Given the description of an element on the screen output the (x, y) to click on. 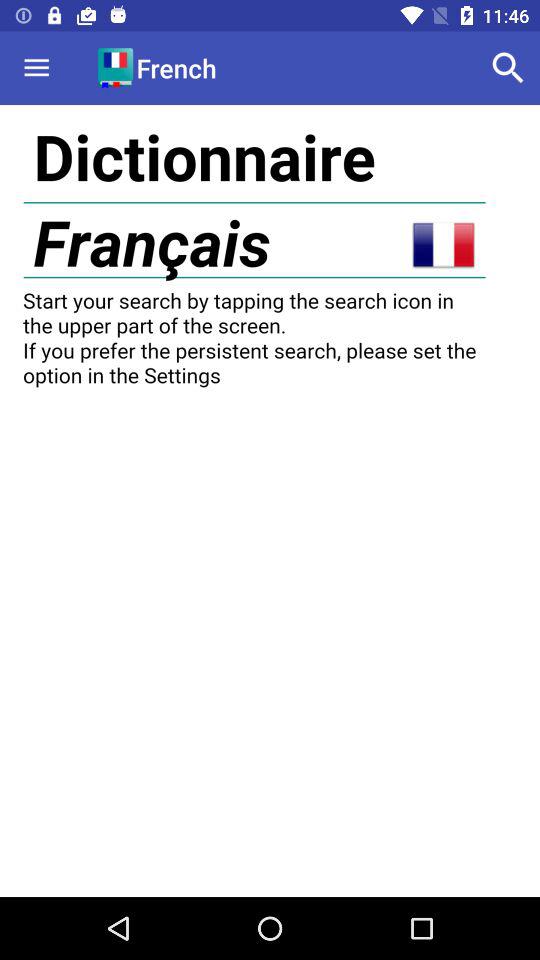
description (270, 501)
